Given the description of an element on the screen output the (x, y) to click on. 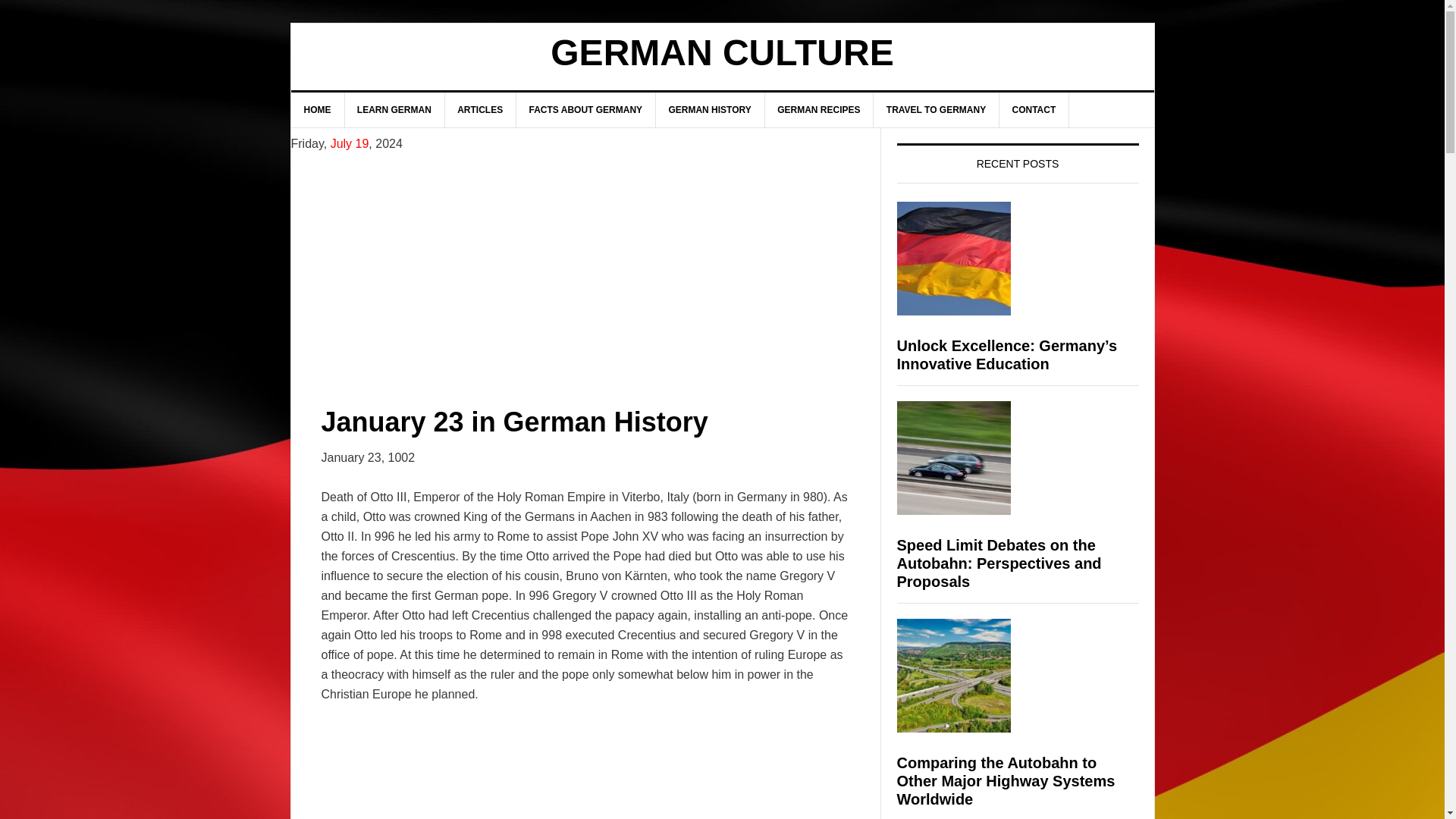
GERMAN HISTORY (709, 109)
FACTS ABOUT GERMANY (586, 109)
CONTACT (1034, 109)
Advertisement (585, 265)
HOME (318, 109)
GERMAN CULTURE (721, 52)
July 19 (349, 143)
GERMAN RECIPES (818, 109)
TRAVEL TO GERMANY (935, 109)
ARTICLES (480, 109)
LEARN GERMAN (394, 109)
